Given the description of an element on the screen output the (x, y) to click on. 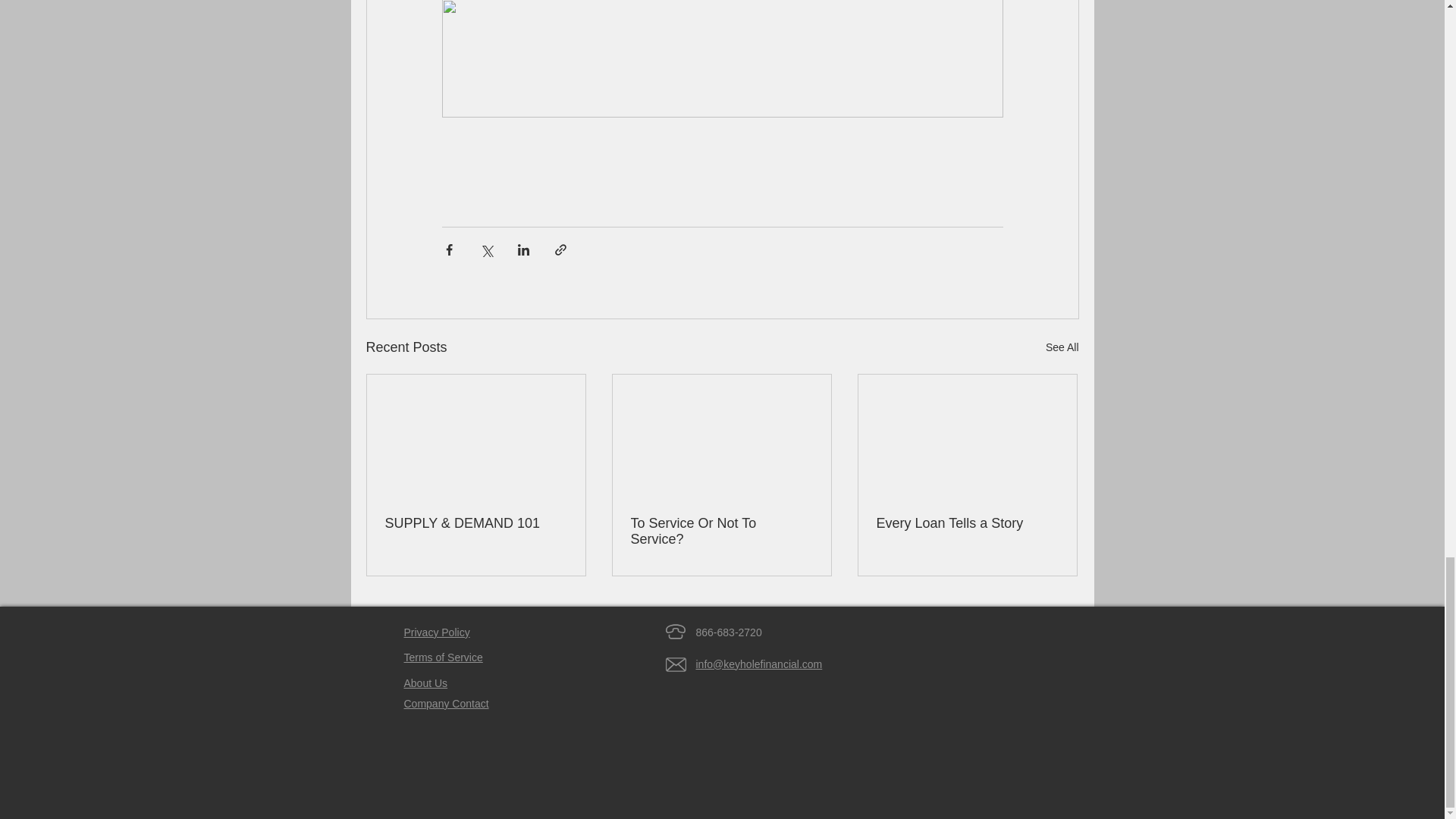
To Service Or Not To Service? (721, 531)
About Us (424, 683)
Privacy Policy (435, 632)
Every Loan Tells a Story (967, 523)
See All (1061, 347)
Company Contact (445, 704)
Terms of Service (442, 657)
